Given the description of an element on the screen output the (x, y) to click on. 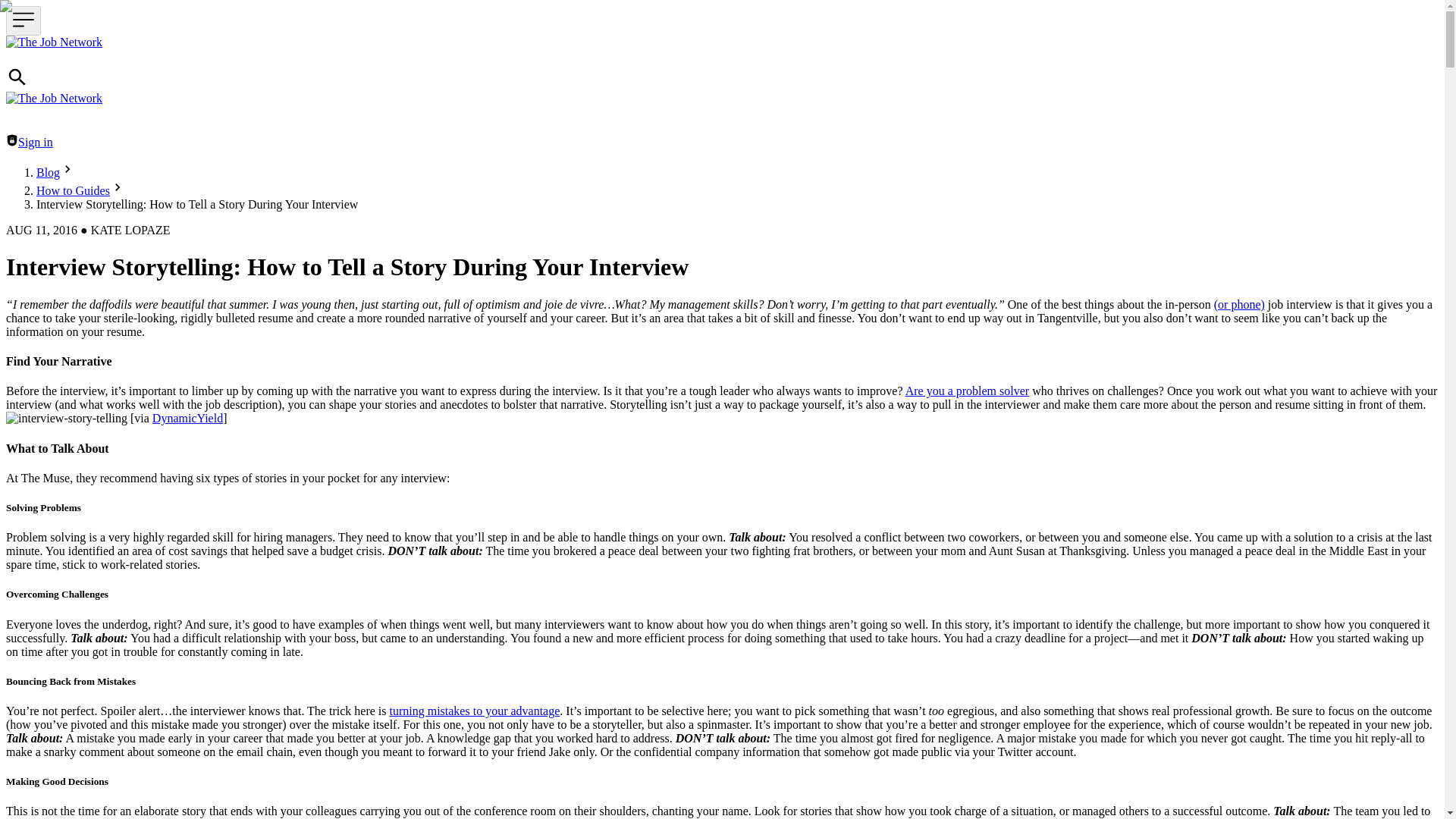
Menu (22, 20)
Search (17, 83)
Are you a problem solver (967, 390)
Menu (22, 19)
How to Guides (73, 190)
Search (17, 77)
Sign inSign in (28, 141)
Sign in (11, 140)
turning mistakes to your advantage (473, 710)
Blog (47, 172)
DynamicYield (187, 418)
